Given the description of an element on the screen output the (x, y) to click on. 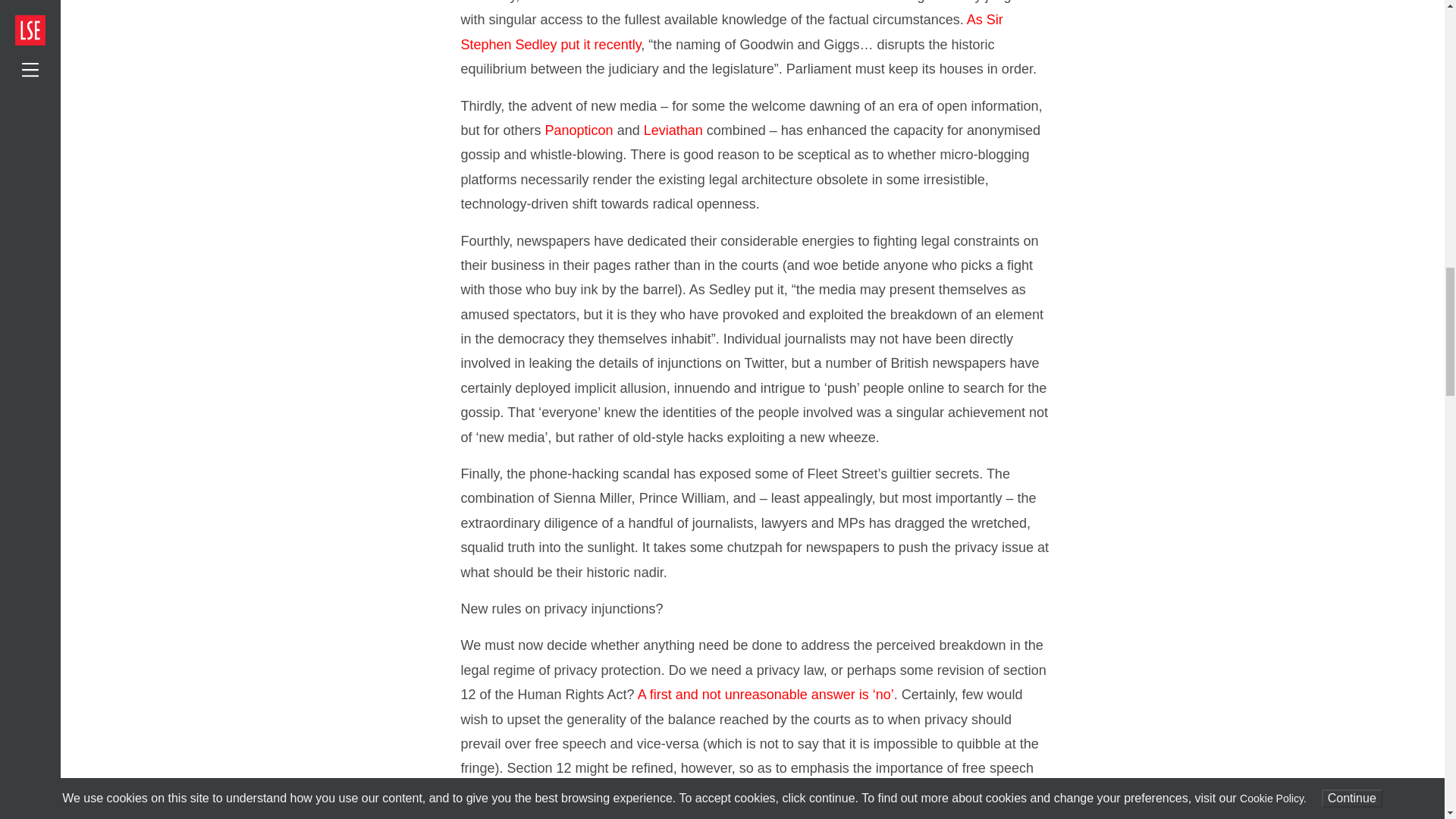
Panopticon (578, 130)
Leviathan (673, 130)
As Sir Stephen Sedley put it recently (732, 31)
